Given the description of an element on the screen output the (x, y) to click on. 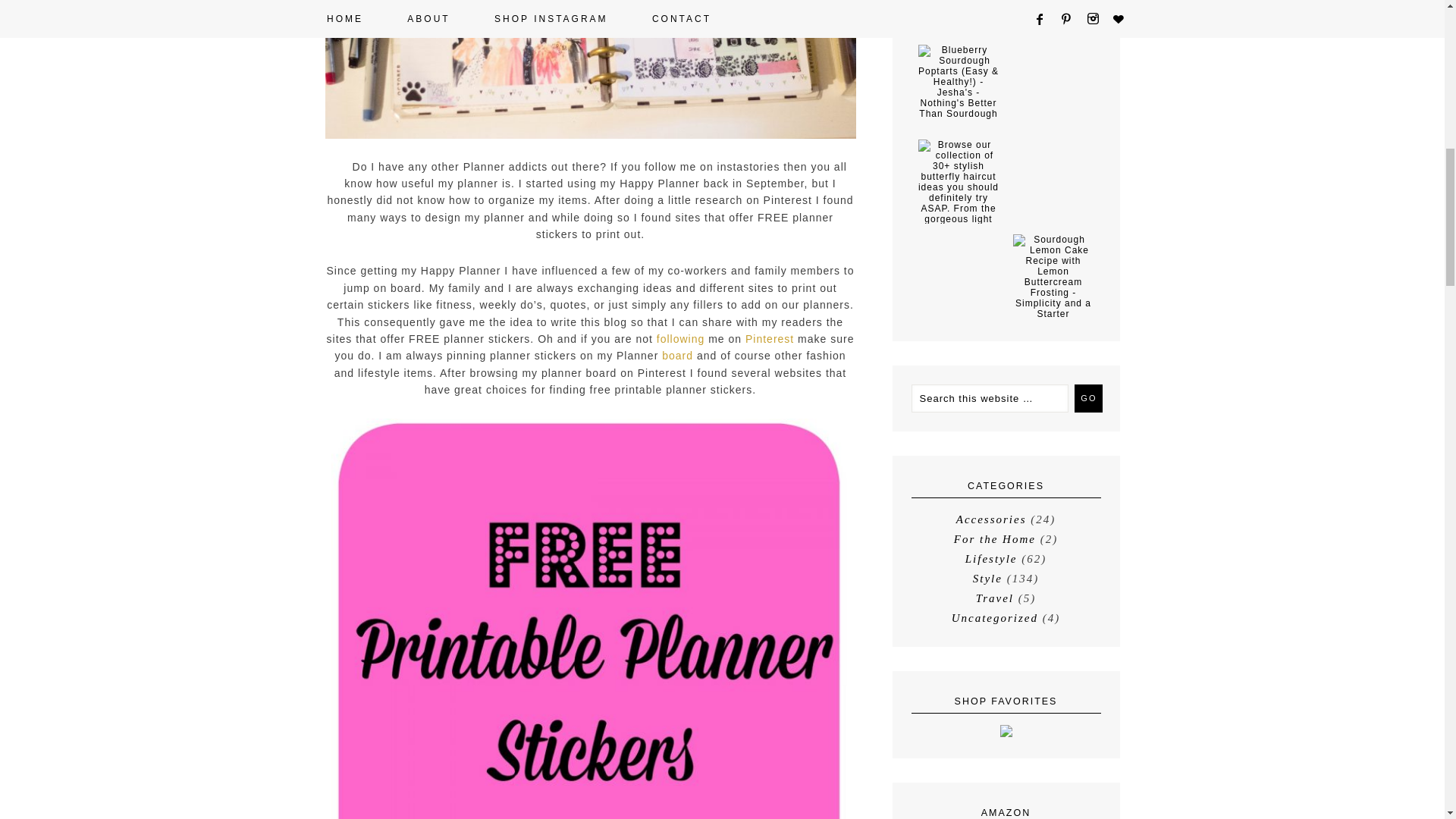
board (677, 355)
 - Pinned on Jul 13, 2024 (957, 239)
 - Pinned on Jul 14, 2024 (1053, 144)
GO (1088, 398)
Pinterest (767, 338)
 - Pinned on Jul 15, 2024 (1053, 50)
